Given the description of an element on the screen output the (x, y) to click on. 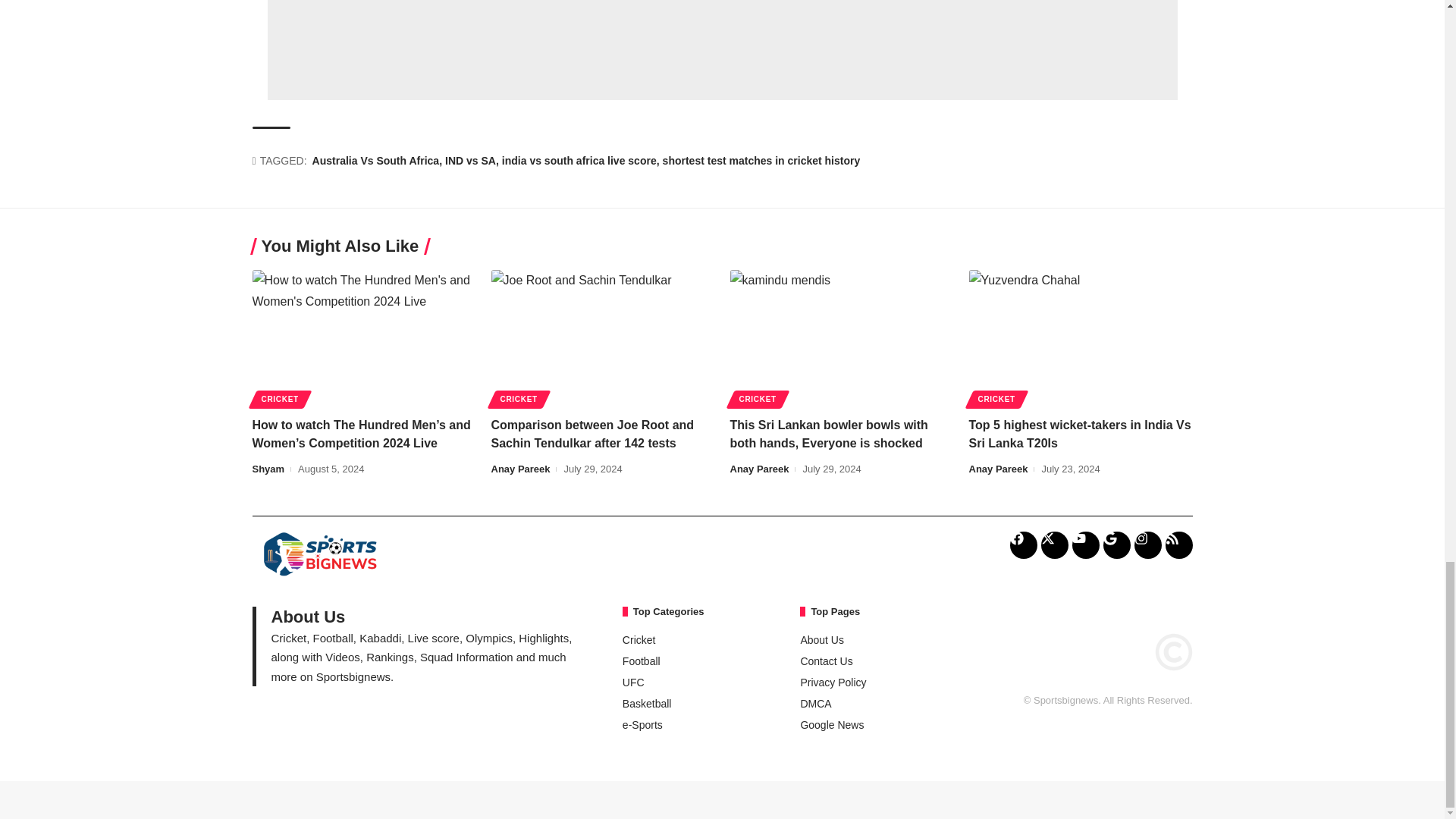
Top 5 highest wicket-takers in India Vs Sri Lanka T20Is (1080, 337)
